Given the description of an element on the screen output the (x, y) to click on. 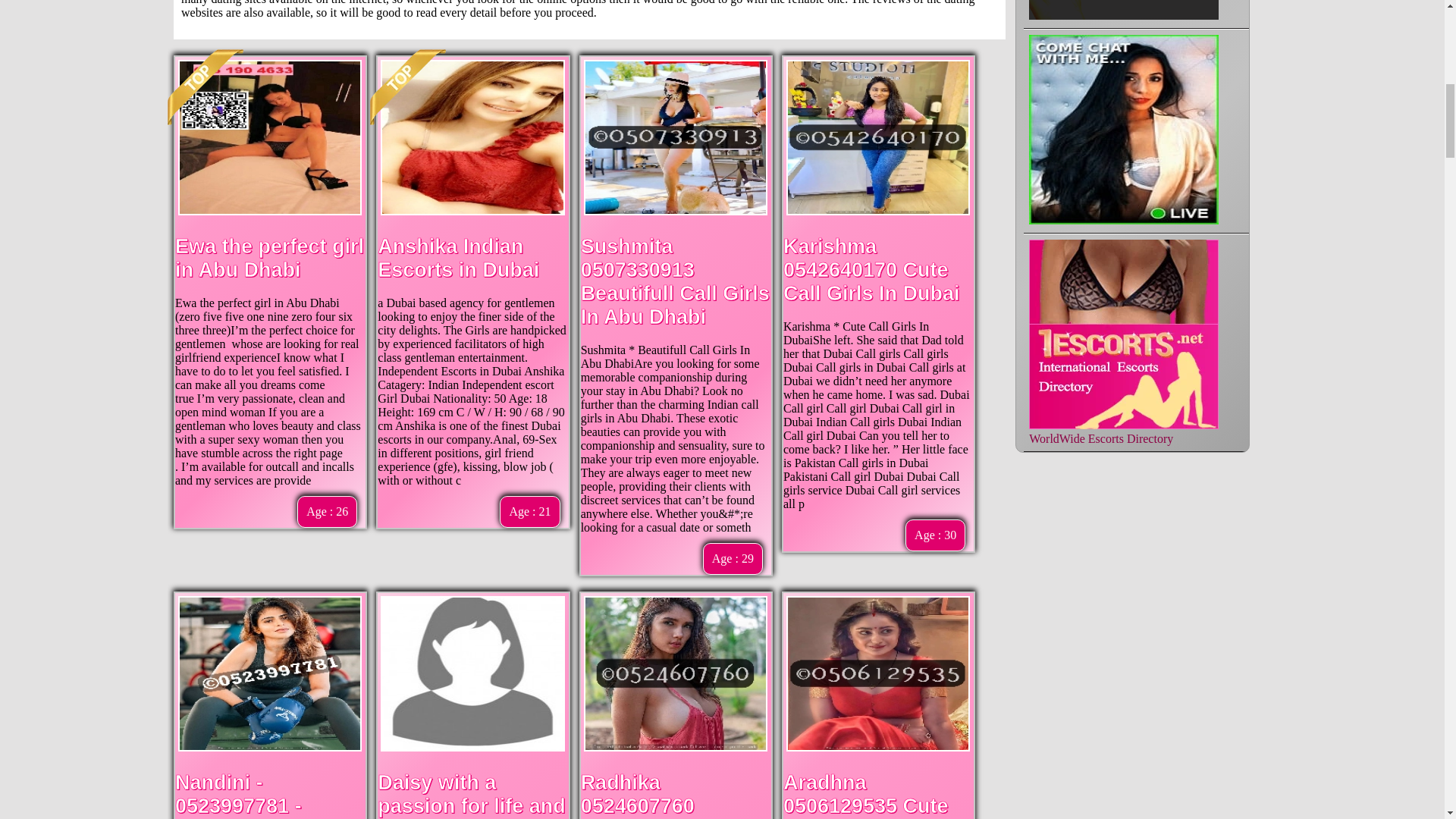
Ewa the perfect girl in Abu Dhabi (269, 258)
Karishma 0542640170 Cute Call Girls In Dubai (871, 269)
Sushmita 0507330913 Beautifull Call Girls In Abu Dhabi (675, 281)
Radhika 0524607760 Beautifull Call Girls In Sharjah (675, 795)
Anshika Indian Escorts in Dubai (457, 258)
Aradhna 0506129535 Cute Call Girls In Sharjah (866, 795)
